Given the description of an element on the screen output the (x, y) to click on. 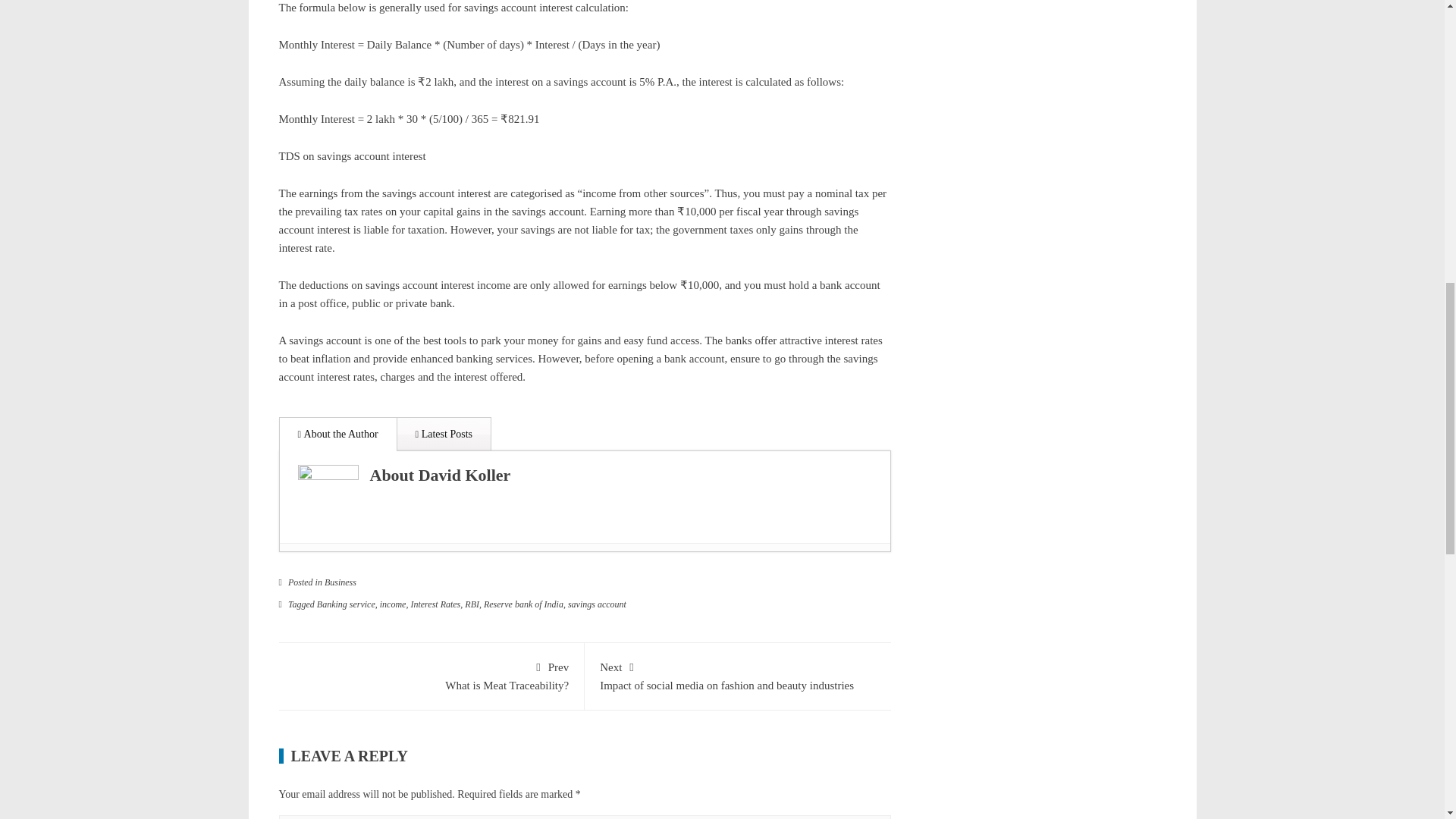
savings account interest rates (578, 367)
Latest Posts (444, 433)
About the Author (338, 433)
